Given the description of an element on the screen output the (x, y) to click on. 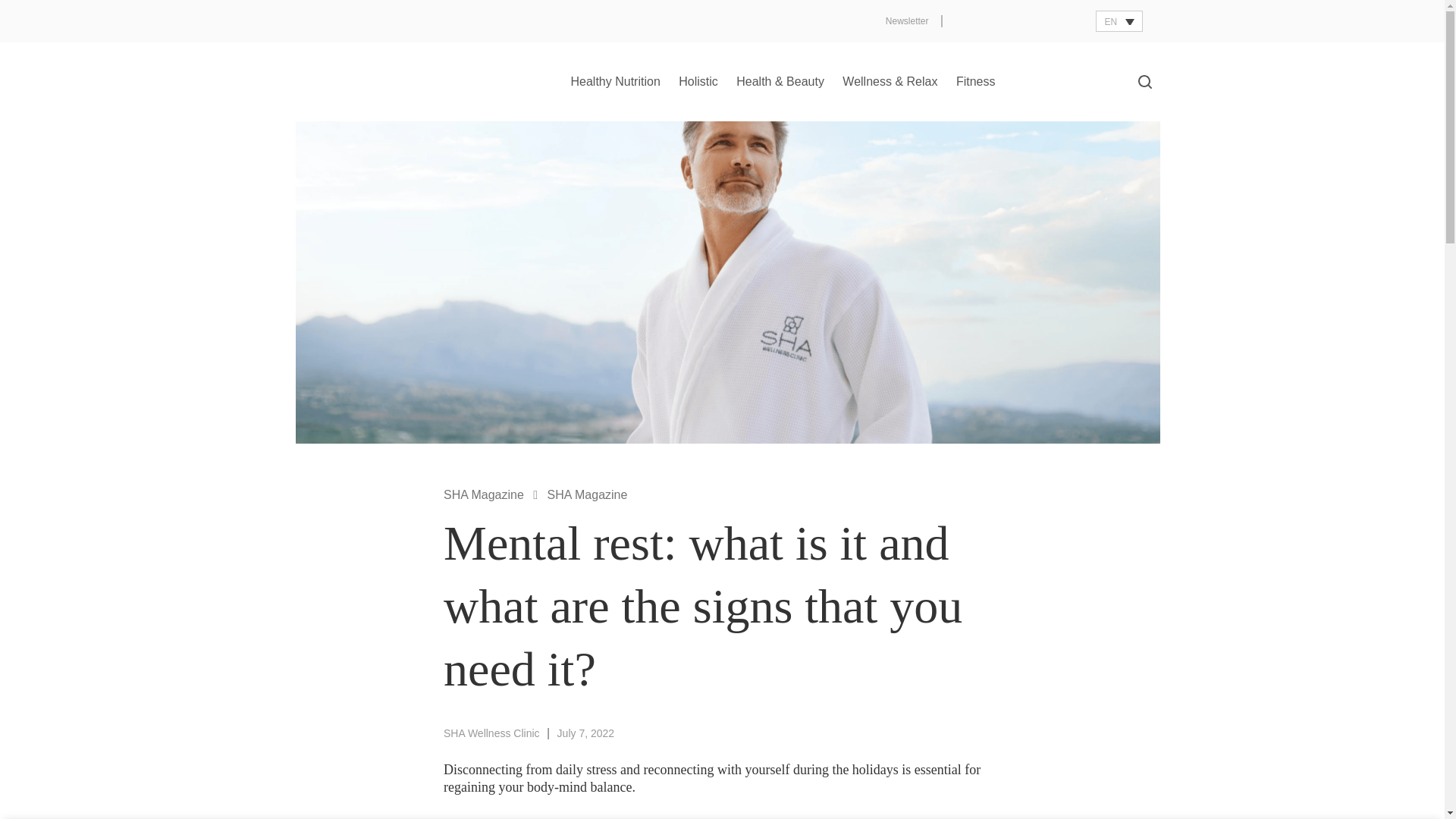
Newsletter (906, 21)
Healthy Nutrition (615, 81)
Fitness (975, 81)
Holistic (698, 81)
EN (1118, 20)
